Given the description of an element on the screen output the (x, y) to click on. 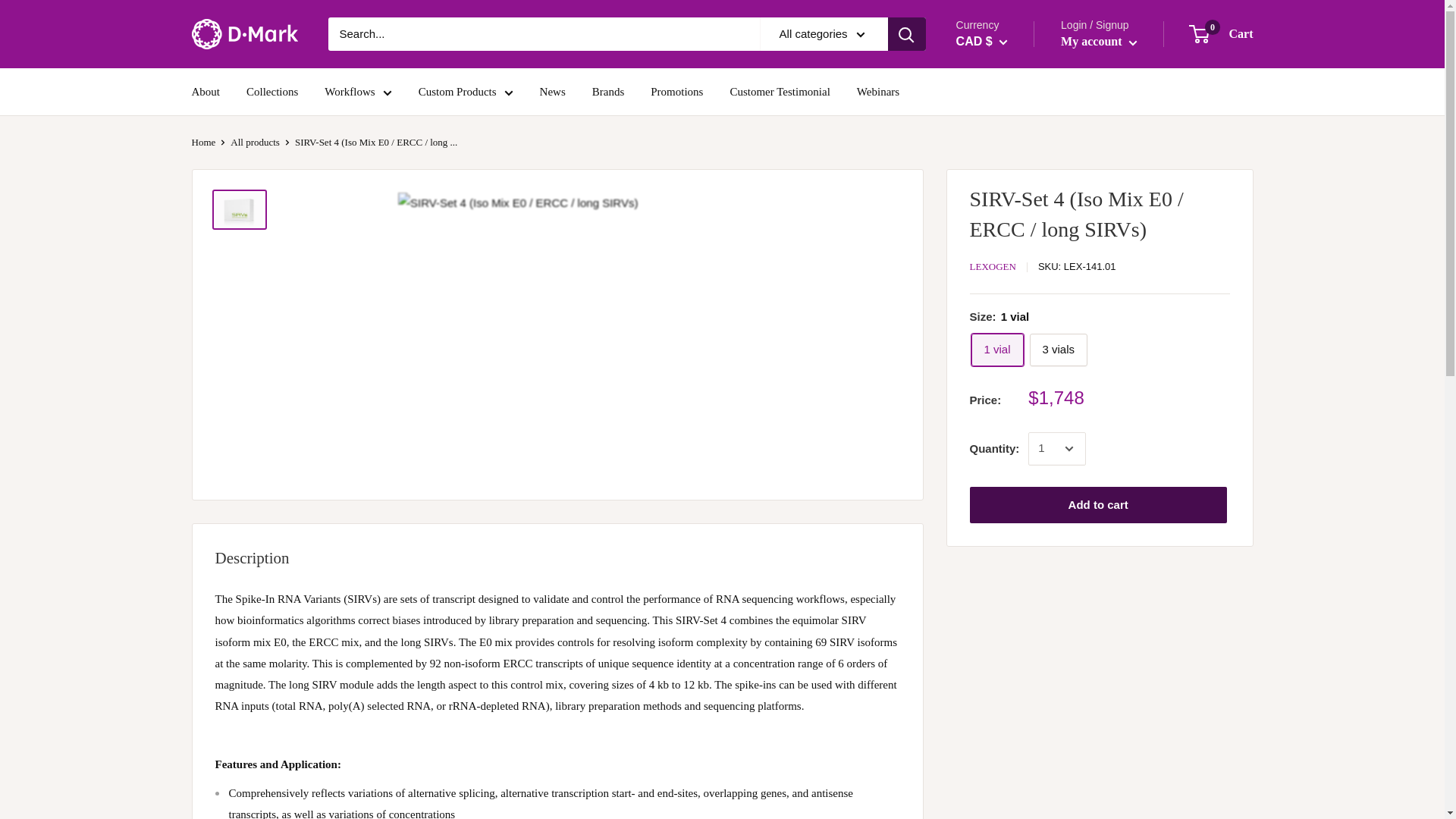
3 vials (1058, 349)
My account (1099, 41)
CAD (992, 80)
1 vial (997, 349)
USD (992, 102)
